Given the description of an element on the screen output the (x, y) to click on. 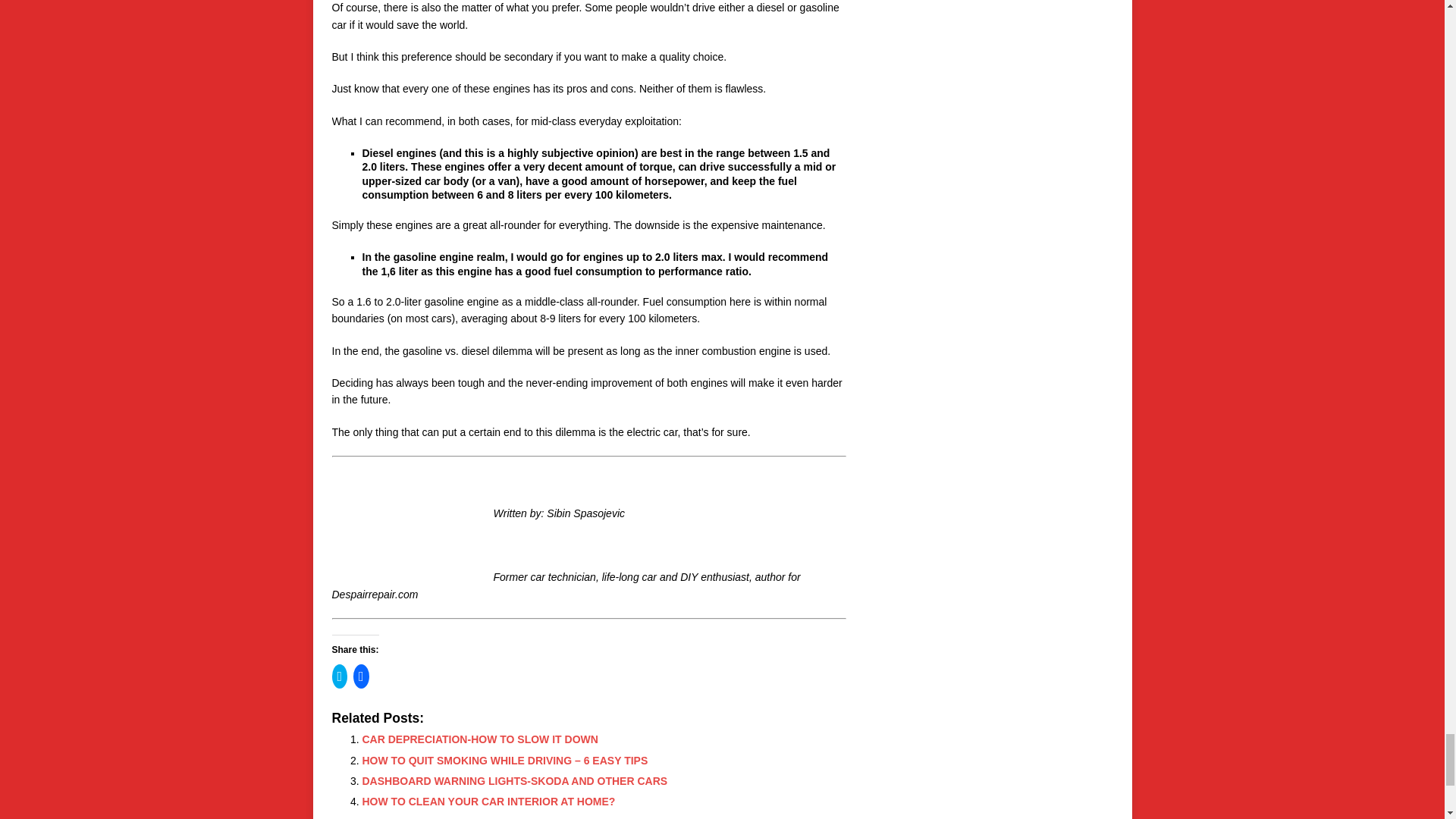
HOW TO CLEAN YOUR CAR INTERIOR AT HOME? (488, 801)
CAR DEPRECIATION-HOW TO SLOW IT DOWN (480, 739)
HOW TO CLEAN YOUR CAR INTERIOR AT HOME? (488, 801)
CAR DEPRECIATION-HOW TO SLOW IT DOWN (480, 739)
DASHBOARD WARNING LIGHTS-SKODA AND OTHER CARS (515, 780)
DASHBOARD WARNING LIGHTS-SKODA AND OTHER CARS (515, 780)
